Given the description of an element on the screen output the (x, y) to click on. 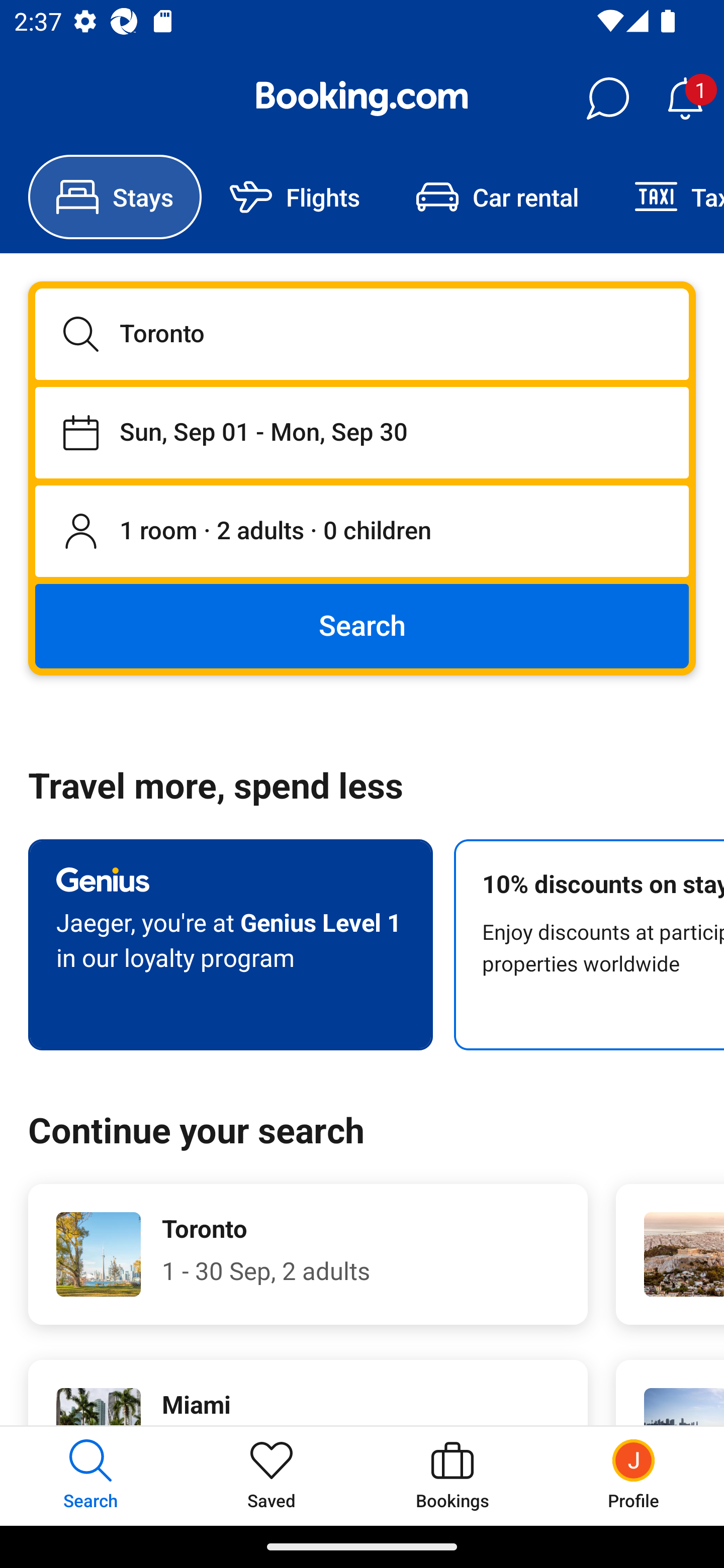
Messages (607, 98)
Notifications (685, 98)
Stays (114, 197)
Flights (294, 197)
Car rental (497, 197)
Taxi (665, 197)
Toronto (361, 333)
Staying from Sun, Sep 01 until Mon, Sep 30 (361, 432)
1 room, 2 adults, 0 children (361, 531)
Search (361, 625)
Toronto 1 - 30 Sep, 2 adults (307, 1253)
Saved (271, 1475)
Bookings (452, 1475)
Profile (633, 1475)
